Given the description of an element on the screen output the (x, y) to click on. 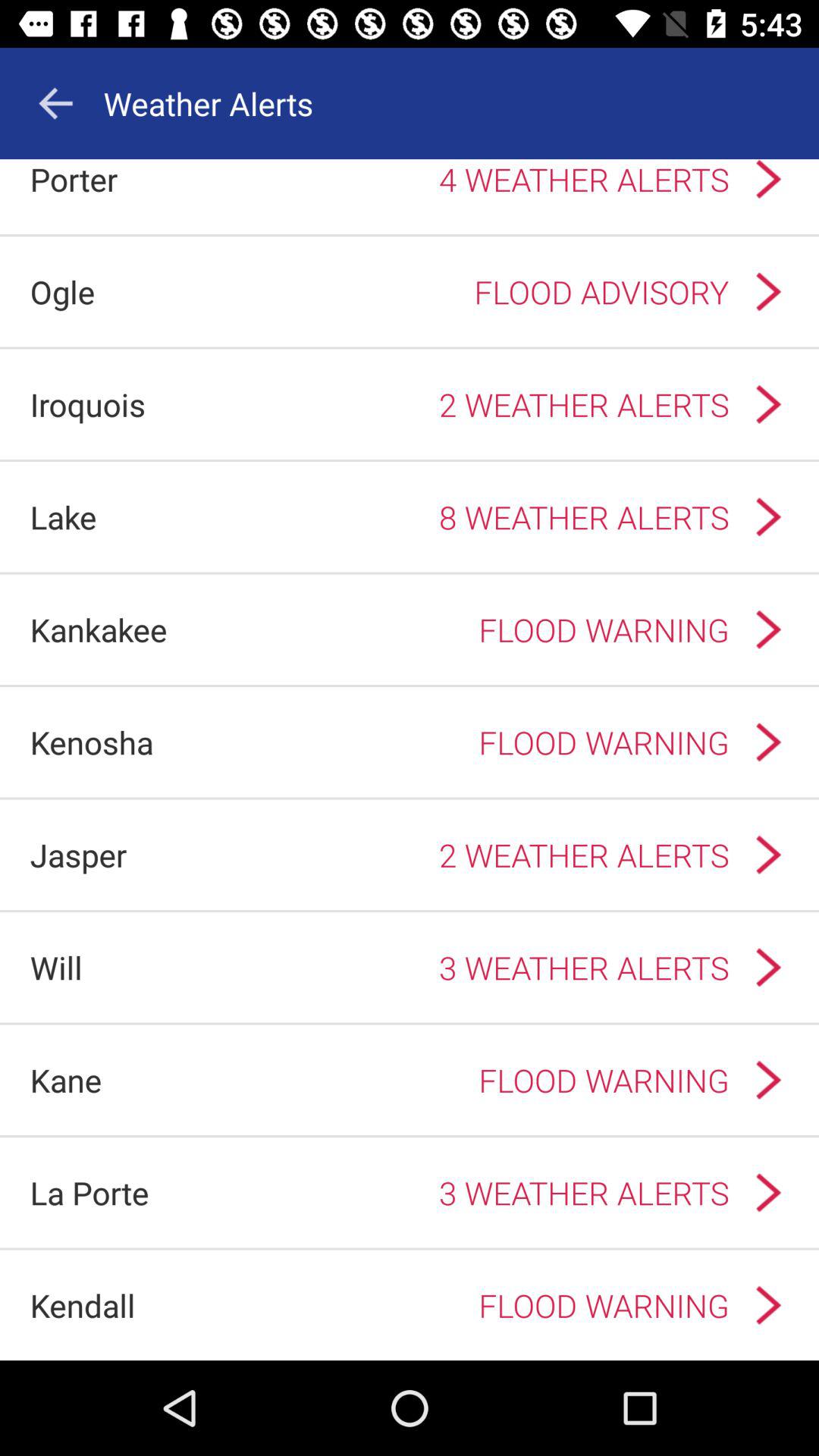
launch flood advisory app (421, 291)
